Given the description of an element on the screen output the (x, y) to click on. 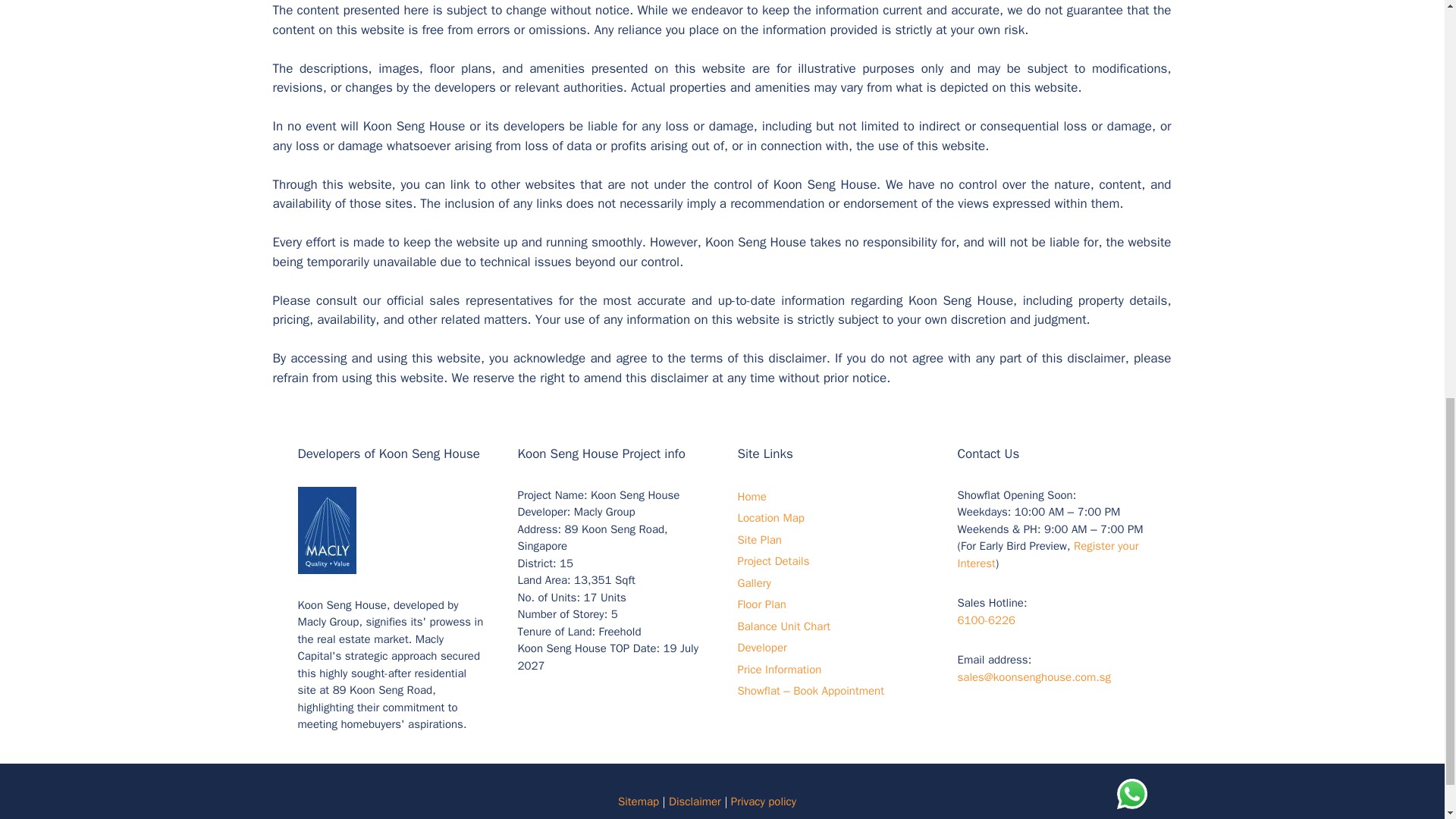
6100-6226 (985, 620)
Floor Plan (761, 603)
Gallery (753, 582)
Home (750, 496)
Site Plan (758, 540)
Price Information (778, 669)
Location Map (769, 517)
Project Details (772, 561)
Developer (761, 647)
Scroll back to top (1406, 720)
